Given the description of an element on the screen output the (x, y) to click on. 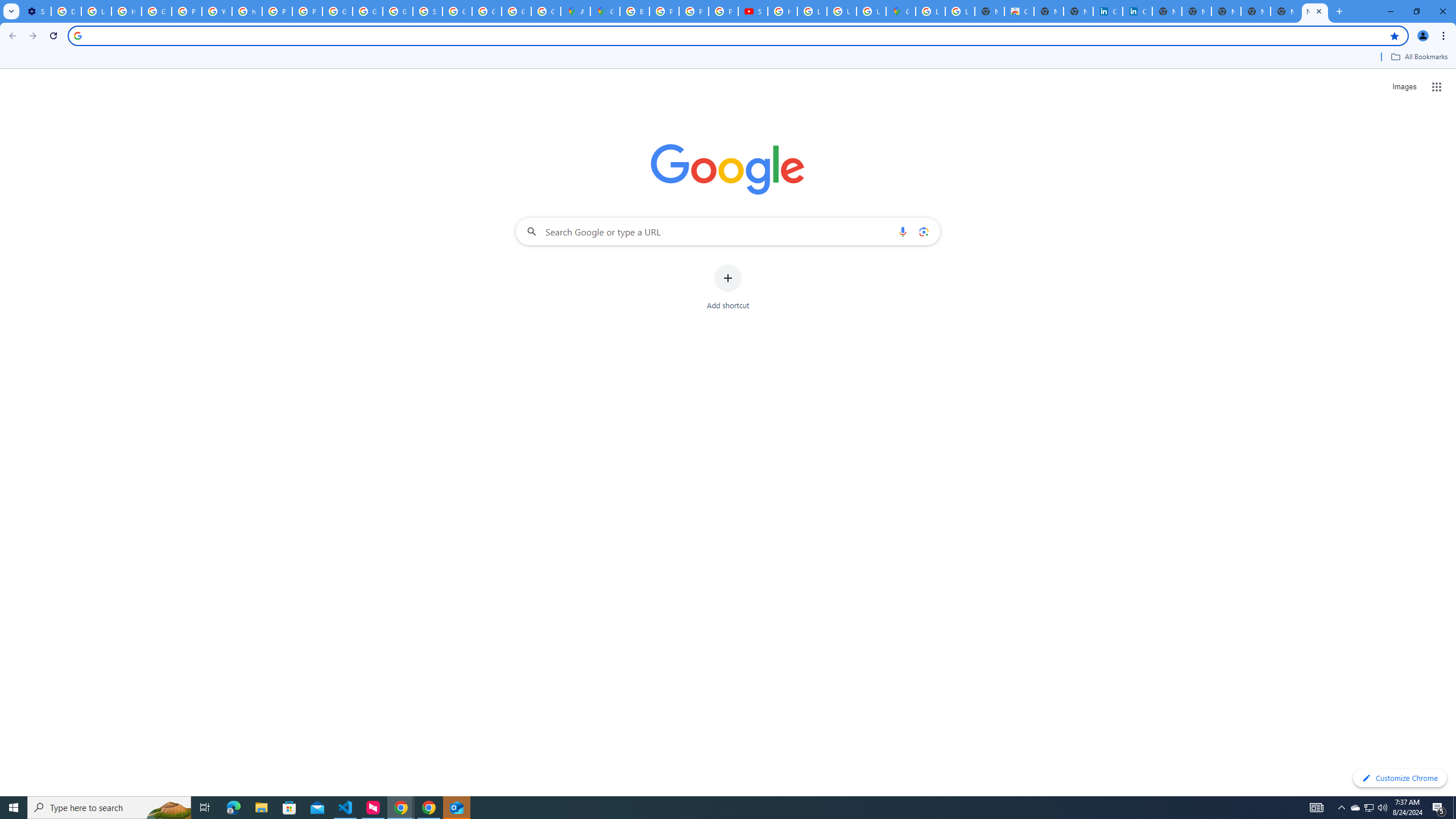
YouTube (216, 11)
Search Google or type a URL (727, 230)
